Given the description of an element on the screen output the (x, y) to click on. 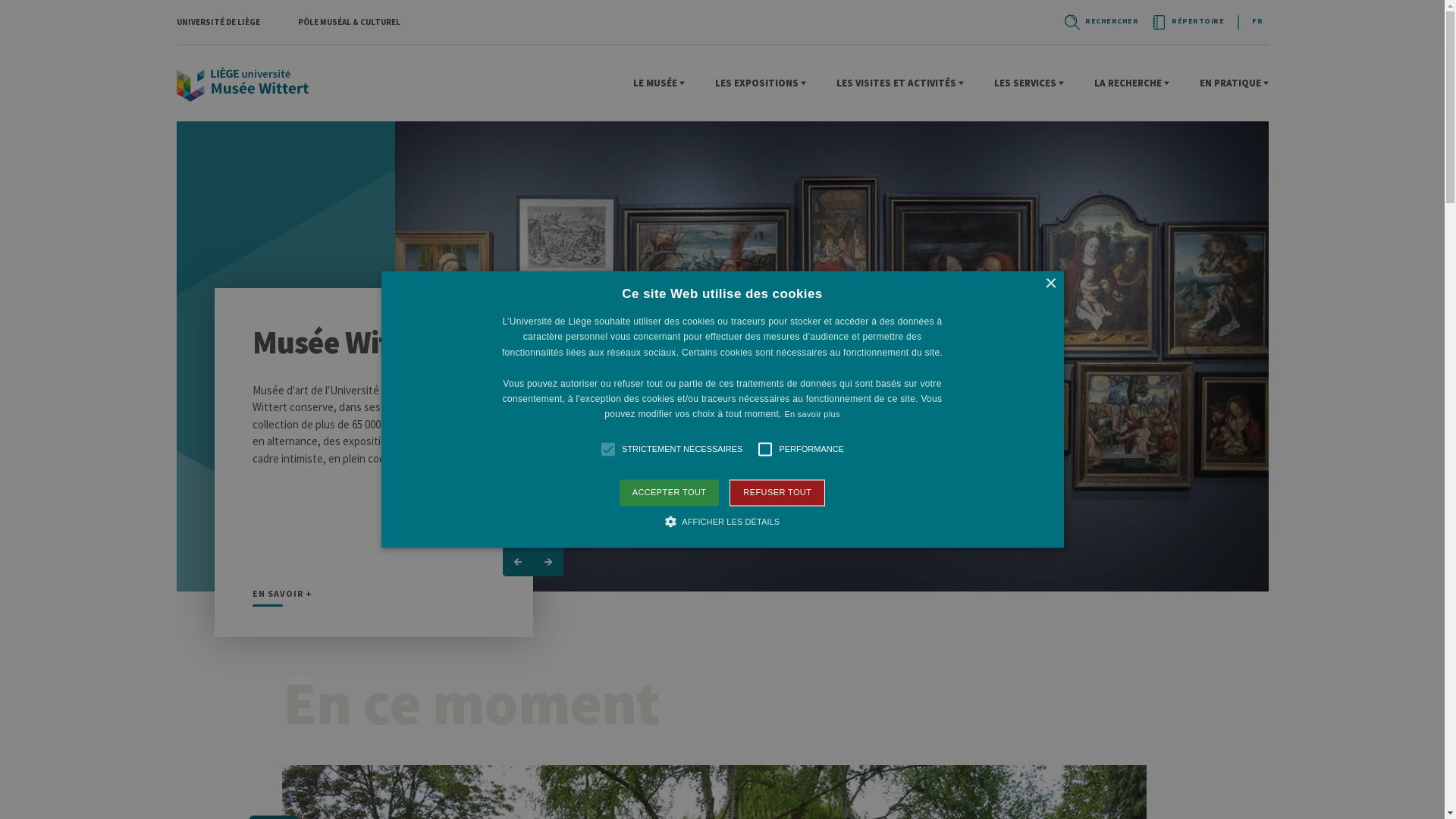
En savoir plus Element type: text (811, 414)
FR Element type: text (1257, 20)
EN PRATIQUE Element type: text (1233, 83)
RECHERCHER Element type: text (1100, 21)
LES EXPOSITIONS Element type: text (759, 83)
EN SAVOIR + Element type: text (281, 596)
LES SERVICES Element type: text (1028, 83)
LA RECHERCHE Element type: text (1130, 83)
